Given the description of an element on the screen output the (x, y) to click on. 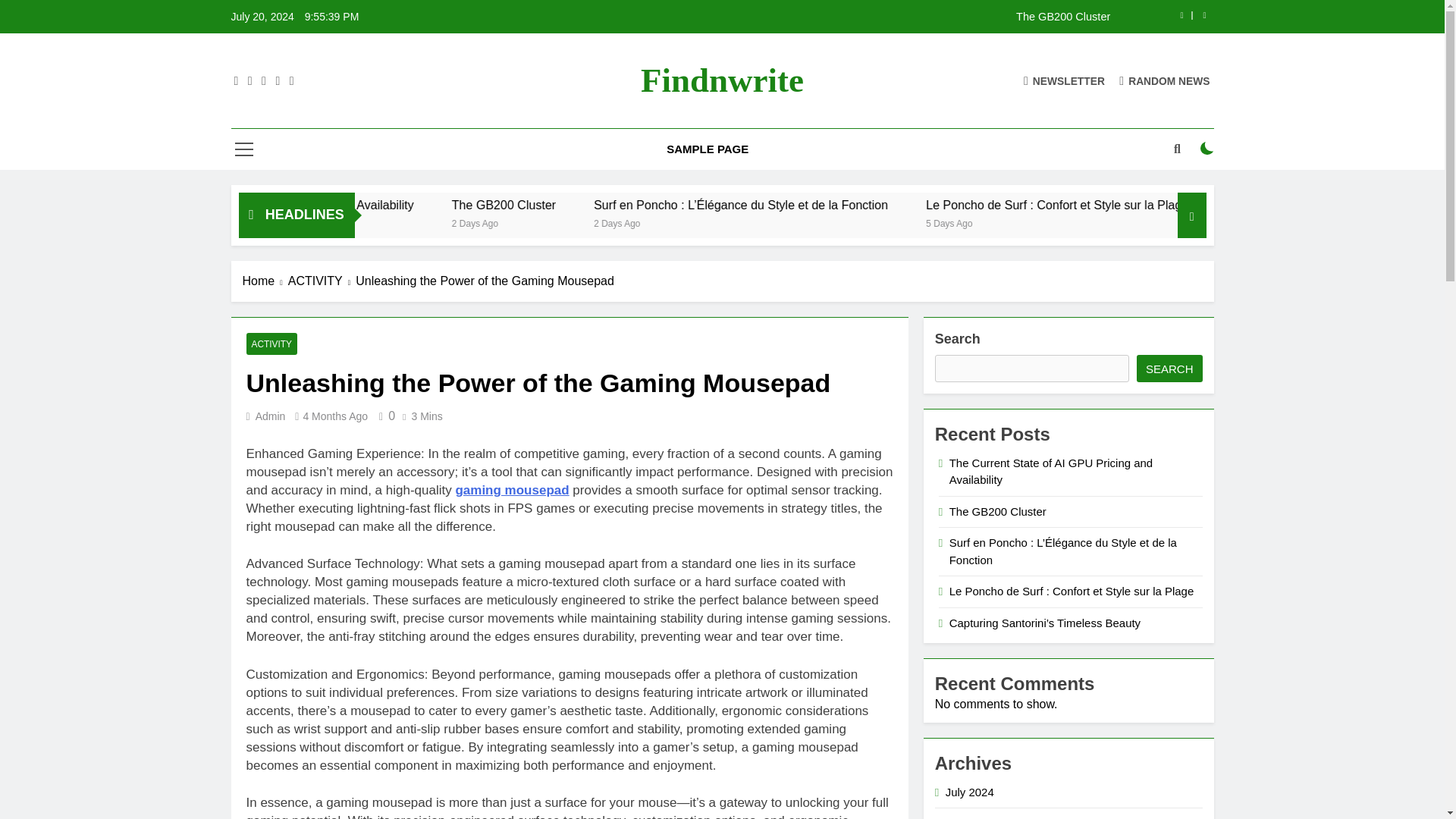
2 Days Ago (668, 222)
The GB200 Cluster (817, 16)
NEWSLETTER (1064, 80)
RANDOM NEWS (1164, 80)
The GB200 Cluster (698, 205)
Findnwrite (721, 80)
2 Hours Ago (357, 222)
The Current State of AI GPU Pricing and Availability (424, 205)
The Current State of AI GPU Pricing and Availability (473, 205)
SAMPLE PAGE (707, 148)
on (1206, 148)
Le Poncho de Surf : Confort et Style sur la Plage (1199, 205)
2 Days Ago (805, 222)
The GB200 Cluster (650, 205)
5 Days Ago (1132, 222)
